Given the description of an element on the screen output the (x, y) to click on. 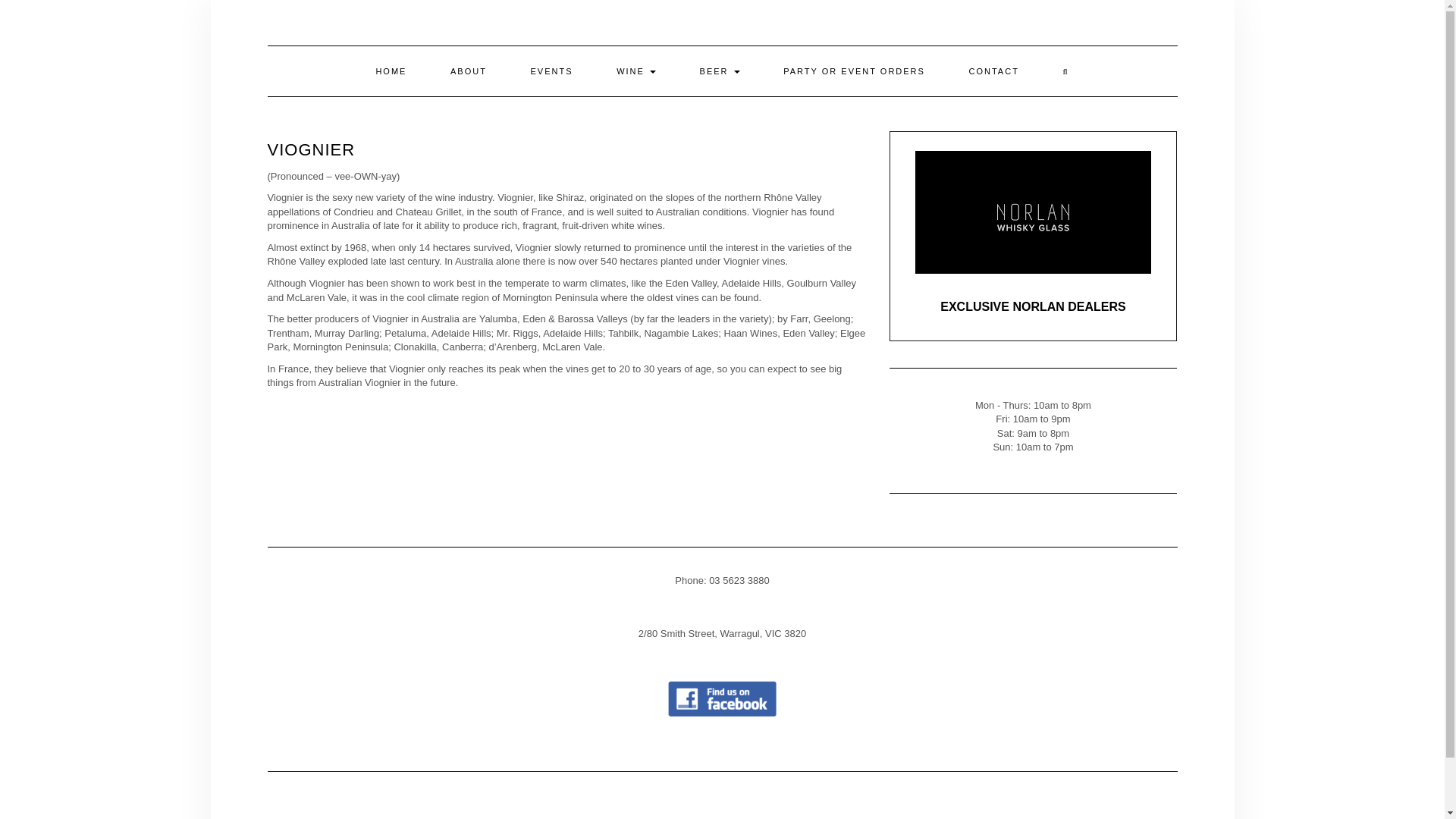
WINE (636, 70)
CONTACT (994, 70)
BEER (719, 70)
PARTY OR EVENT ORDERS (853, 70)
EVENTS (552, 70)
HOME (390, 70)
ABOUT (467, 70)
